Given the description of an element on the screen output the (x, y) to click on. 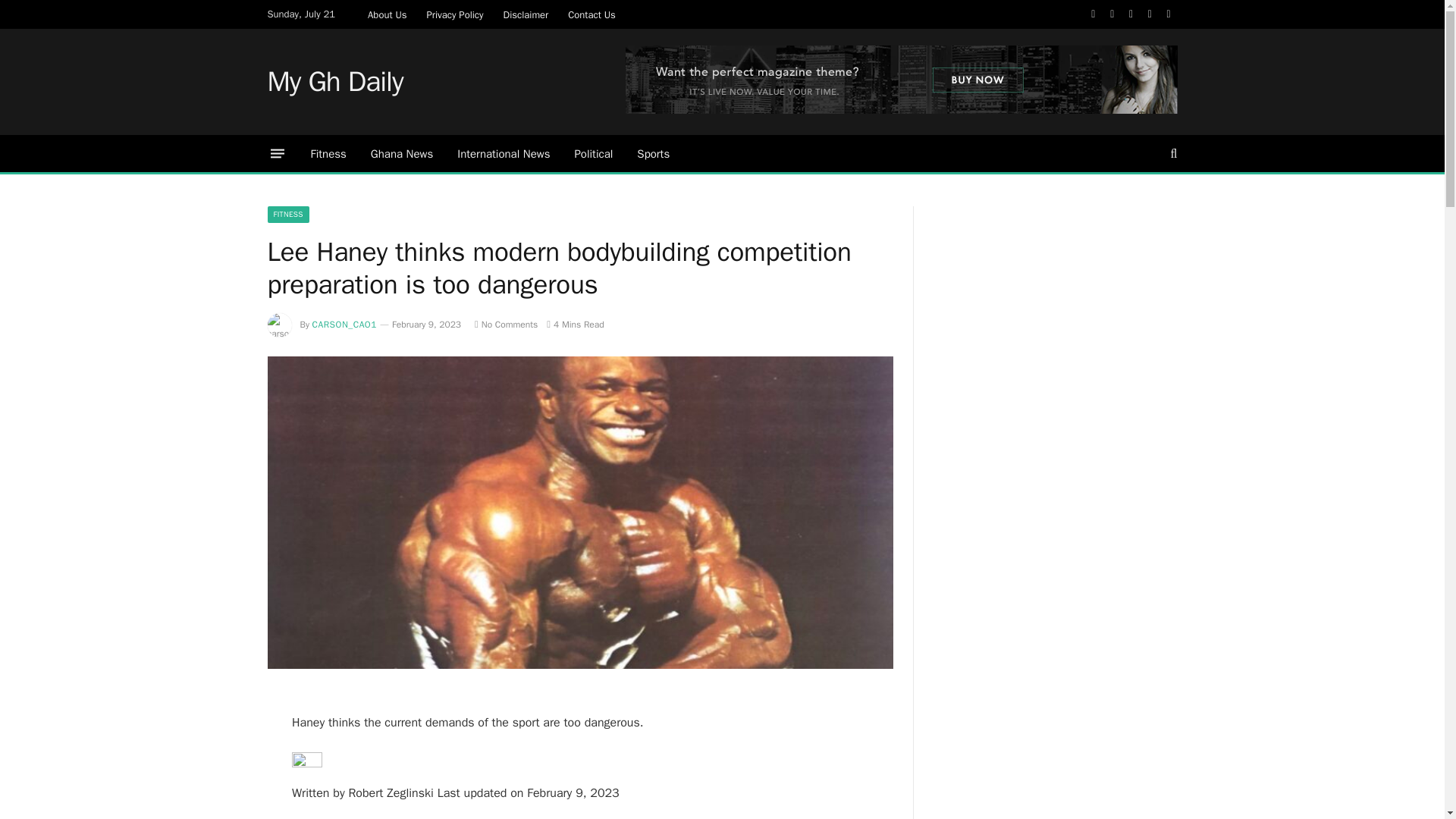
Sports (652, 153)
FITNESS (287, 214)
Fitness (328, 153)
Privacy Policy (454, 14)
About Us (387, 14)
Disclaimer (526, 14)
My Gh Daily (334, 81)
Political (593, 153)
No Comments (505, 324)
International News (503, 153)
Contact Us (591, 14)
My Gh Daily  (334, 81)
Ghana News (401, 153)
